Given the description of an element on the screen output the (x, y) to click on. 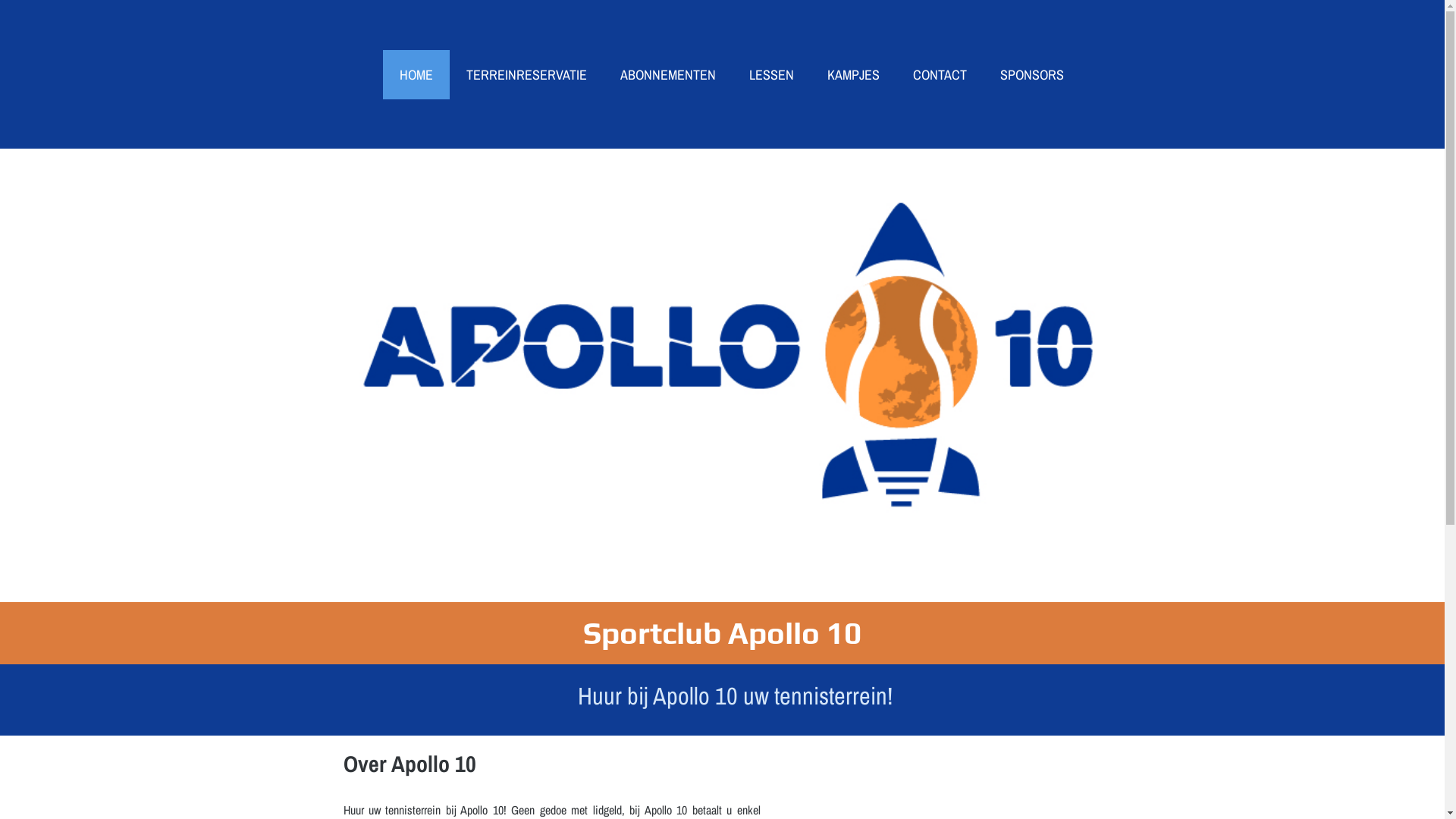
KAMPJES Element type: text (852, 74)
SPONSORS Element type: text (1030, 74)
CONTACT Element type: text (939, 74)
ABONNEMENTEN Element type: text (667, 74)
HOME Element type: text (415, 74)
TERREINRESERVATIE Element type: text (525, 74)
LESSEN Element type: text (771, 74)
